Given the description of an element on the screen output the (x, y) to click on. 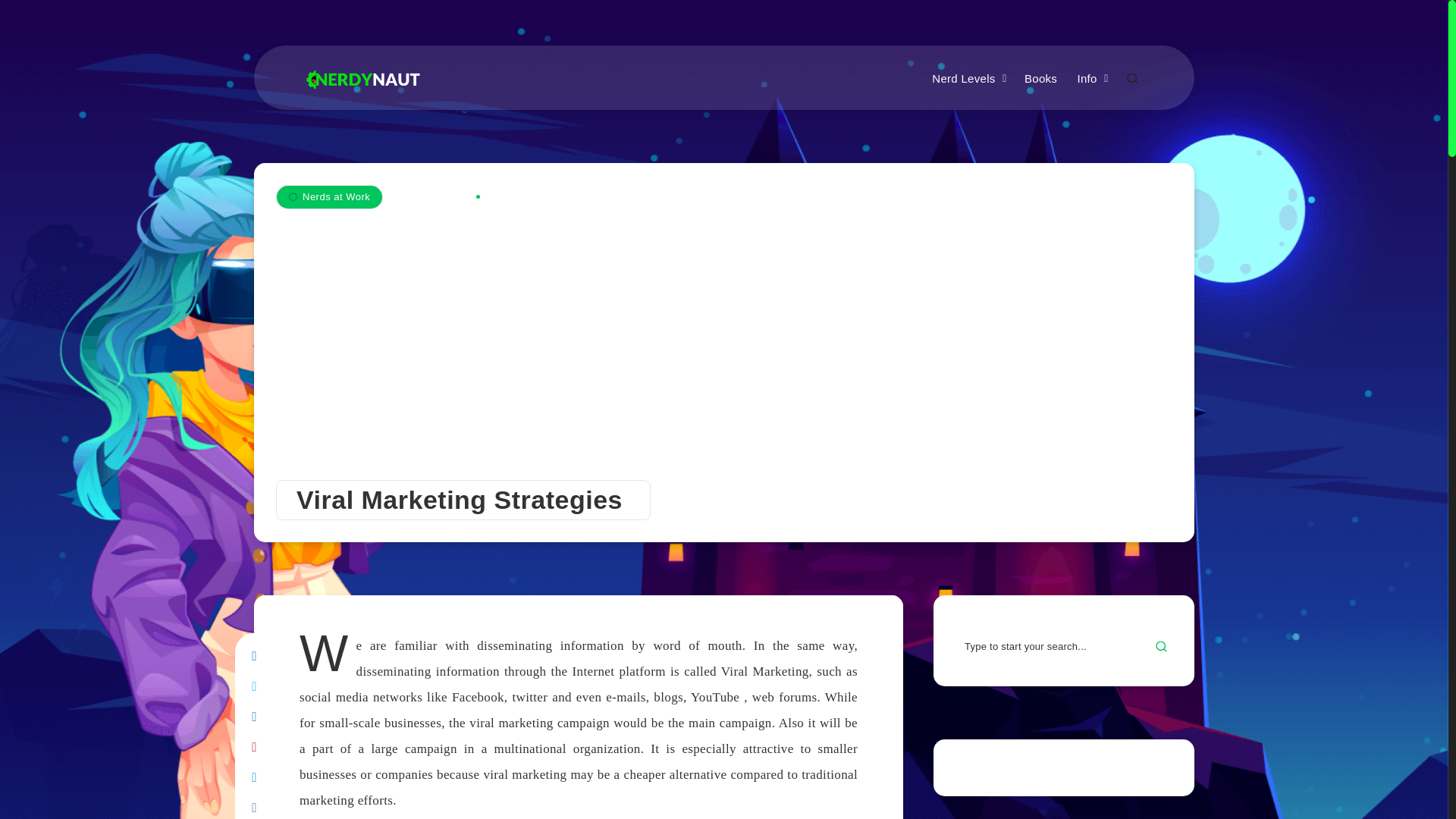
Books (1041, 79)
Nerd Levels (962, 79)
Info (1086, 79)
